Given the description of an element on the screen output the (x, y) to click on. 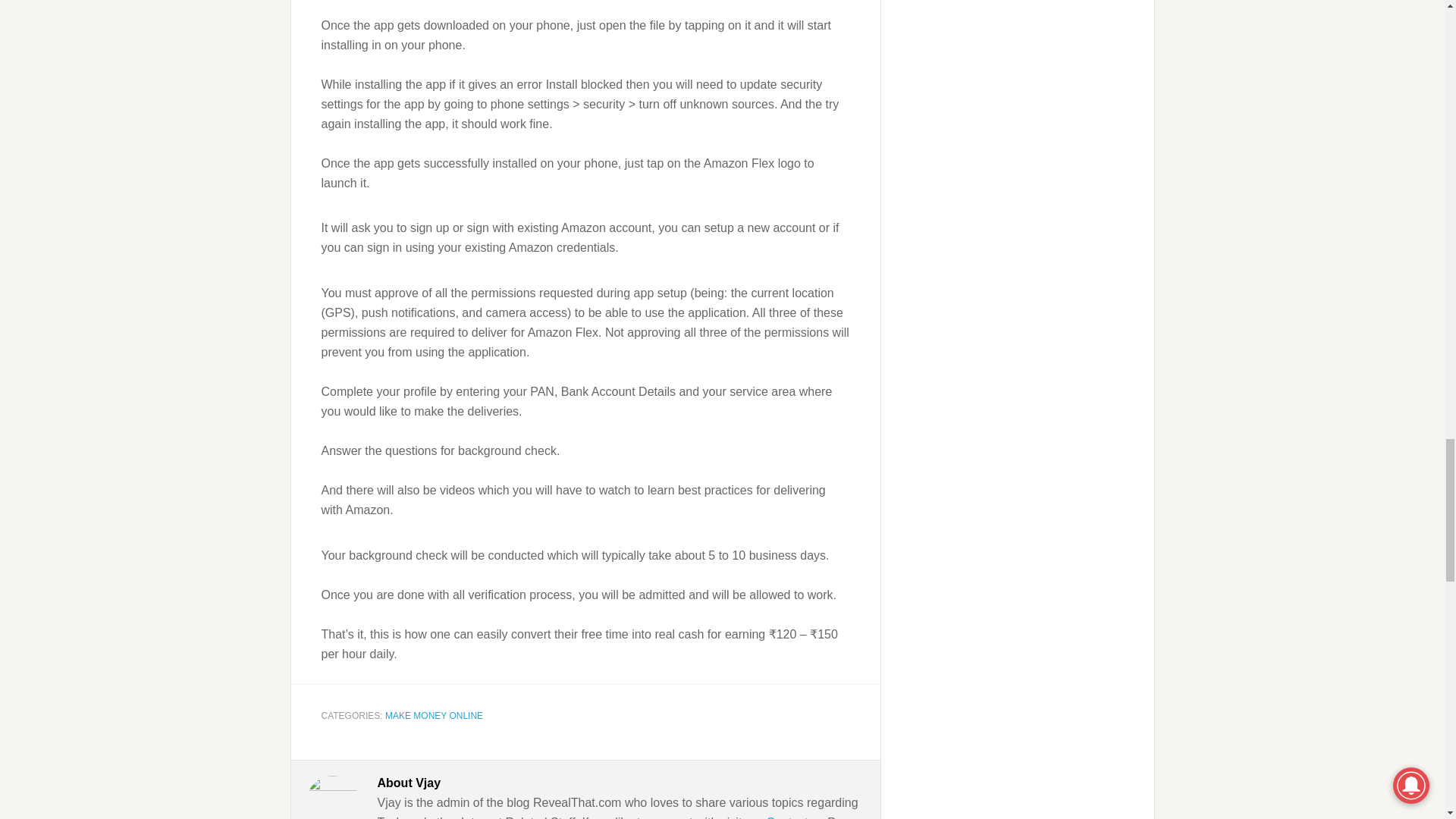
MAKE MONEY ONLINE (434, 715)
Contact us (794, 817)
